Given the description of an element on the screen output the (x, y) to click on. 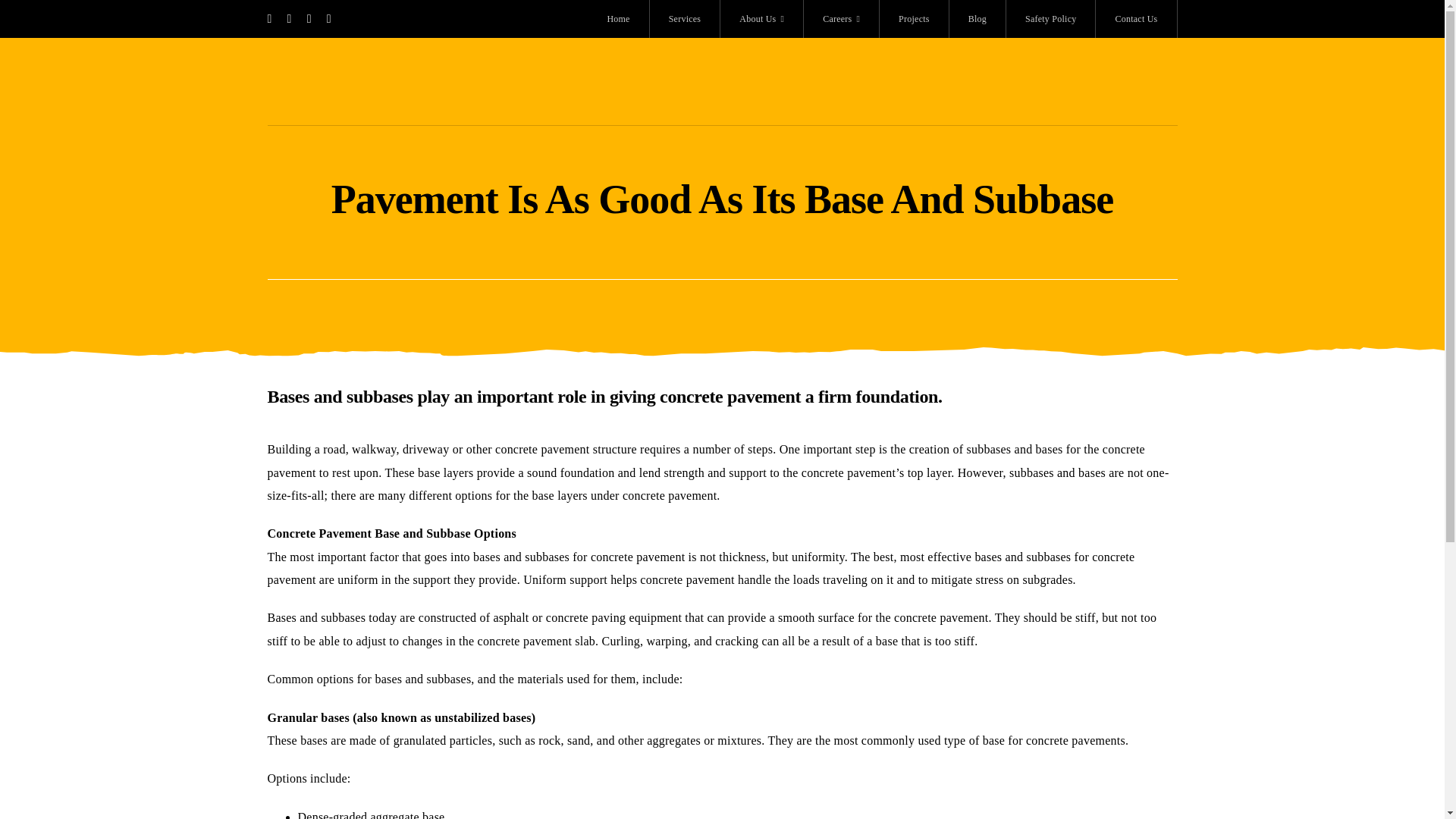
Projects (914, 18)
Contact Us (1136, 18)
About Us (761, 18)
Safety Policy (1051, 18)
Home (618, 18)
Services (684, 18)
Careers (841, 18)
Blog (977, 18)
